Given the description of an element on the screen output the (x, y) to click on. 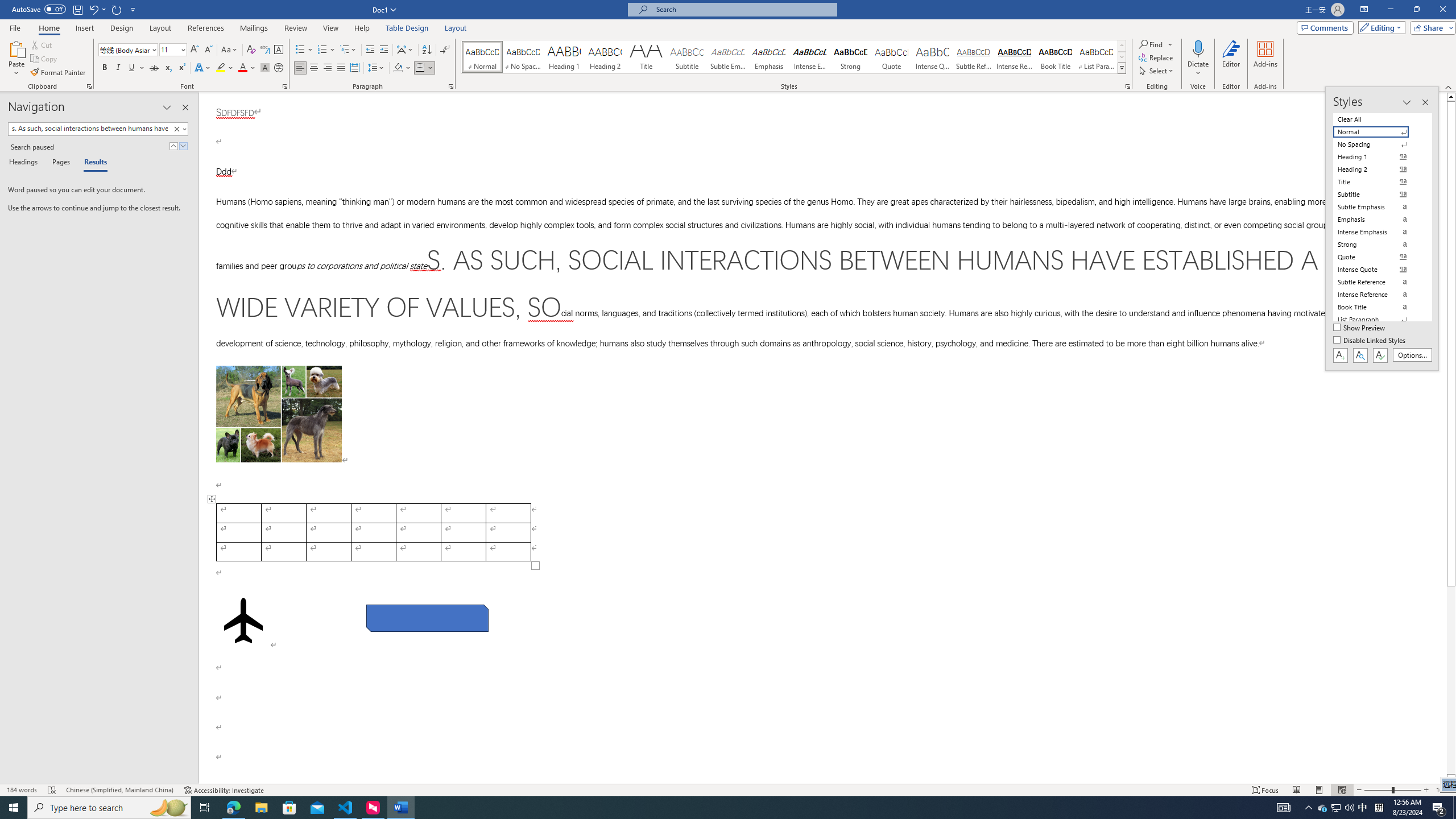
Undo Style (96, 9)
